Given the description of an element on the screen output the (x, y) to click on. 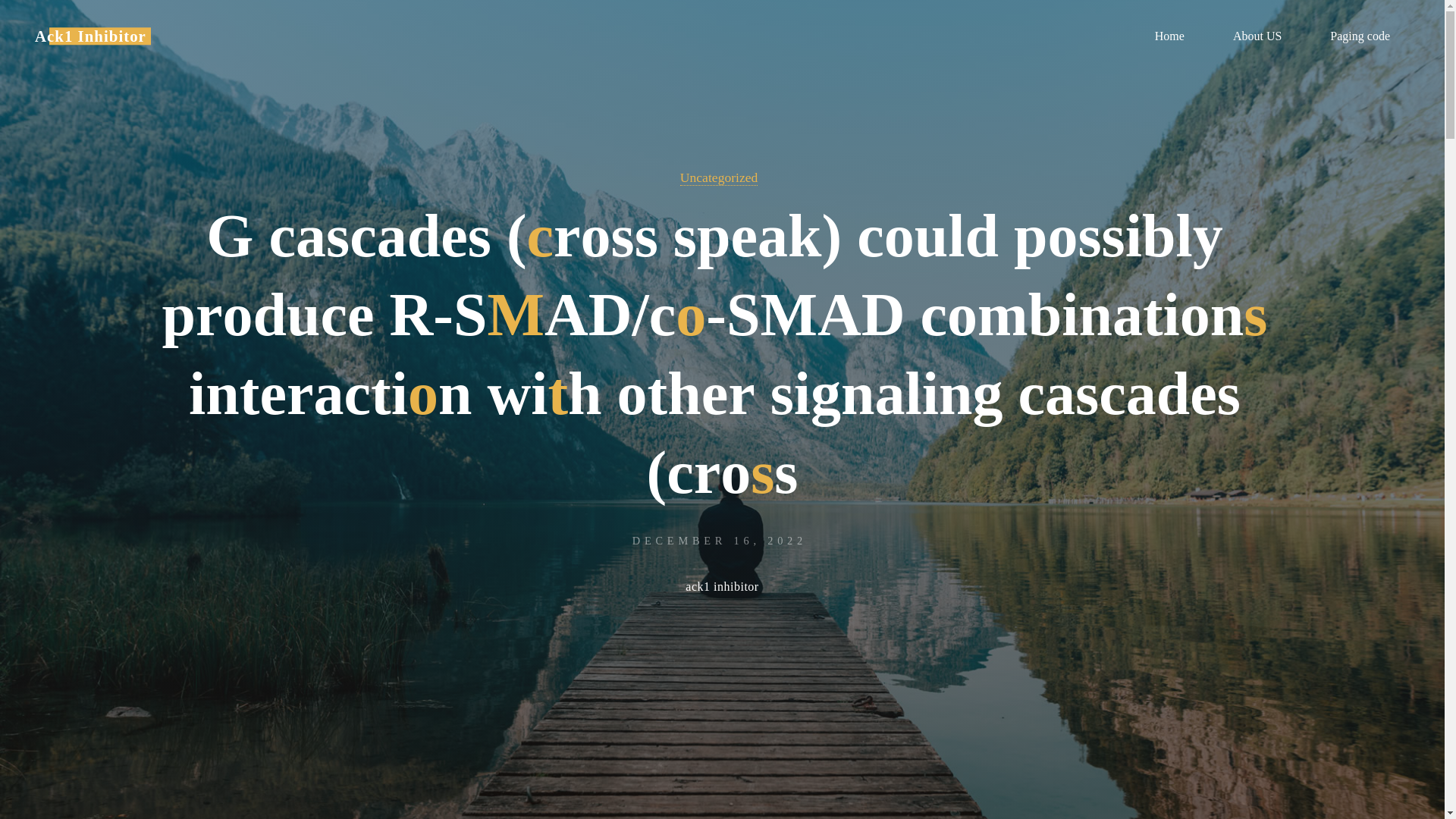
View all posts by ack1 inhibitor (721, 588)
Home (1169, 35)
Ack1 is a survival kinase (90, 36)
Paging code (1359, 35)
Ack1 Inhibitor (90, 36)
Read more (721, 724)
Uncategorized (718, 177)
About US (1257, 35)
ack1 inhibitor (721, 588)
